Given the description of an element on the screen output the (x, y) to click on. 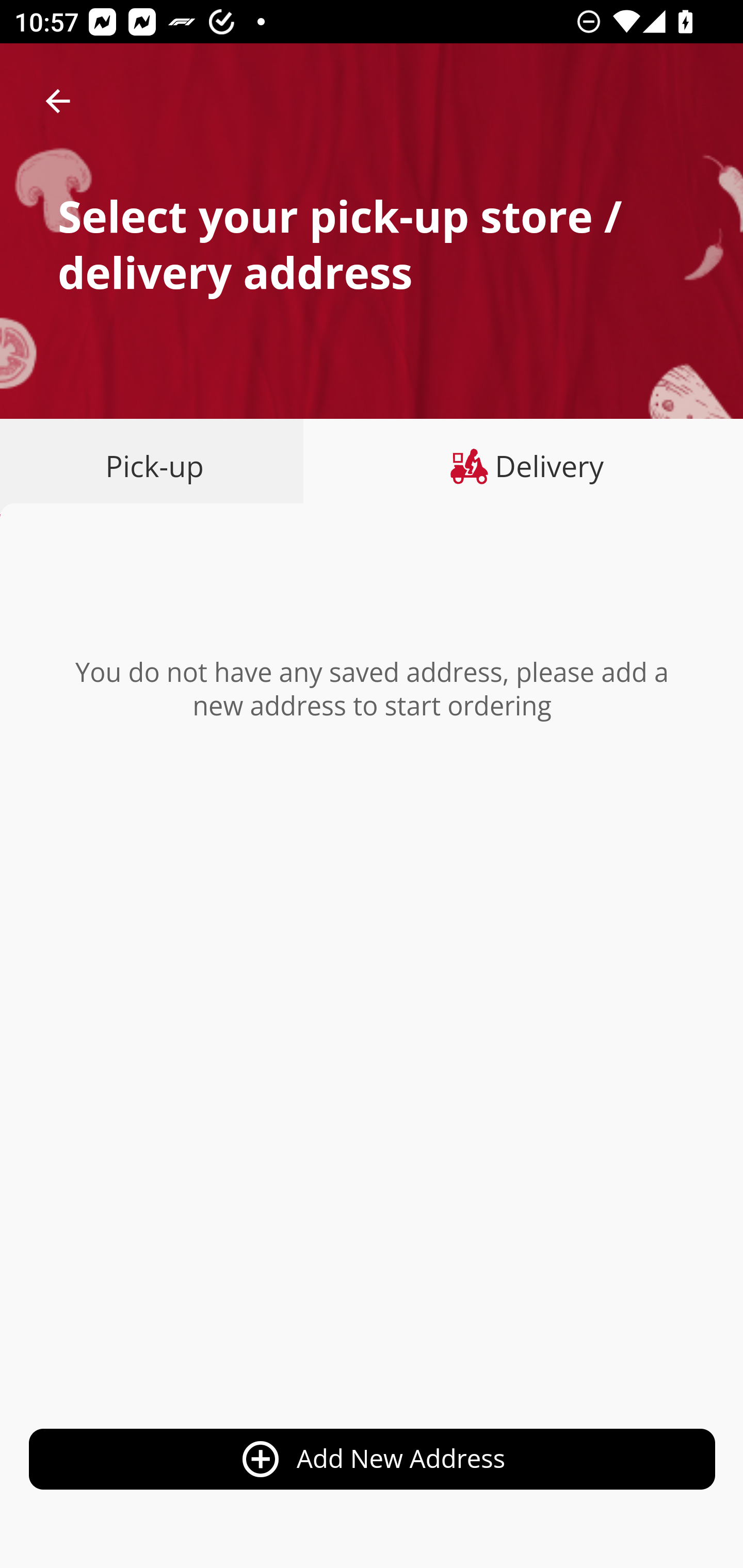
arrow_back (58, 100)
Pick-up (157, 466)
Delivery (523, 466)
add_circle_outline Add New Address (372, 1459)
